Given the description of an element on the screen output the (x, y) to click on. 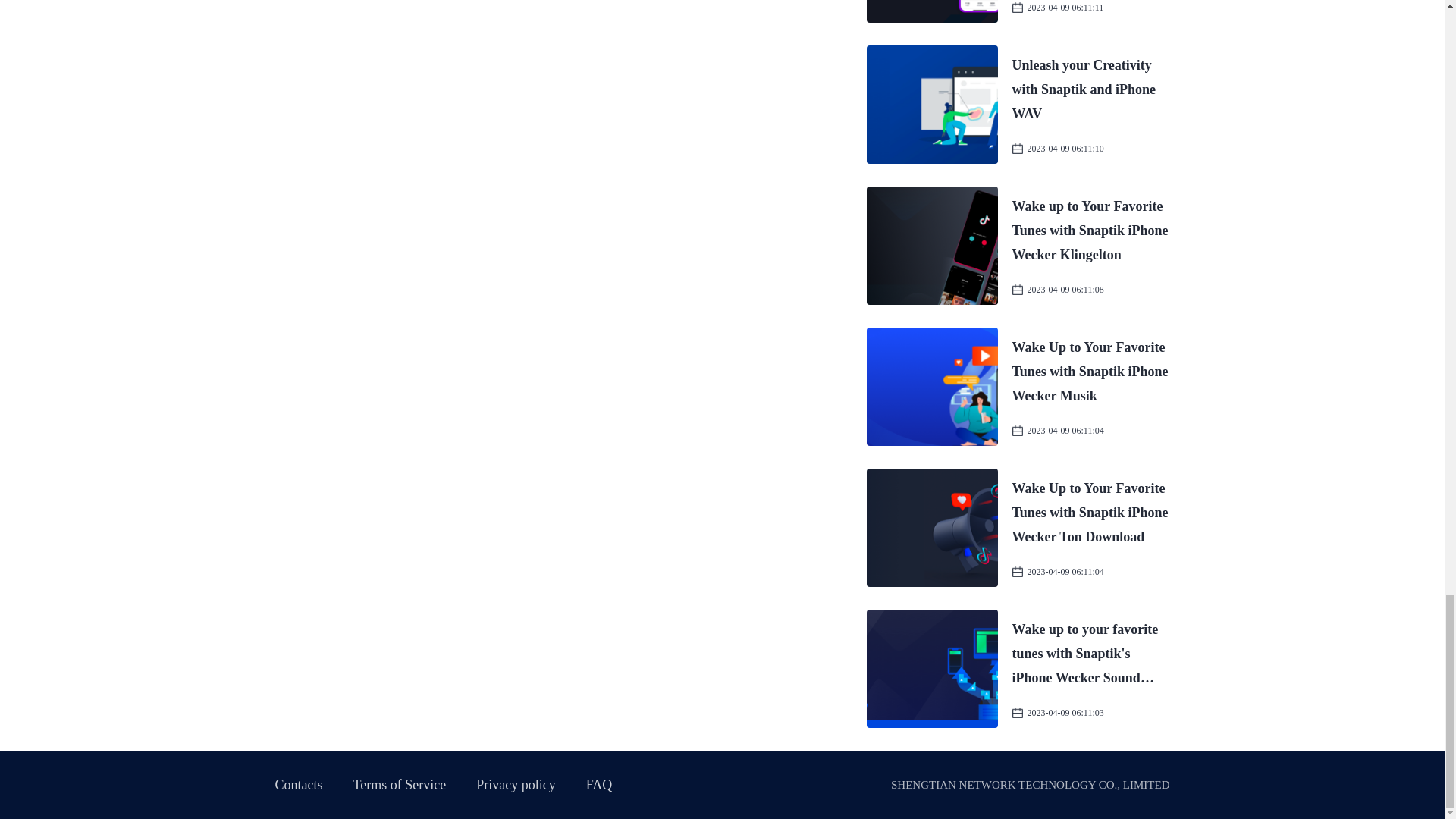
Terms of Service (399, 784)
FAQ (599, 784)
Contacts (298, 784)
Privacy policy (515, 784)
